Given the description of an element on the screen output the (x, y) to click on. 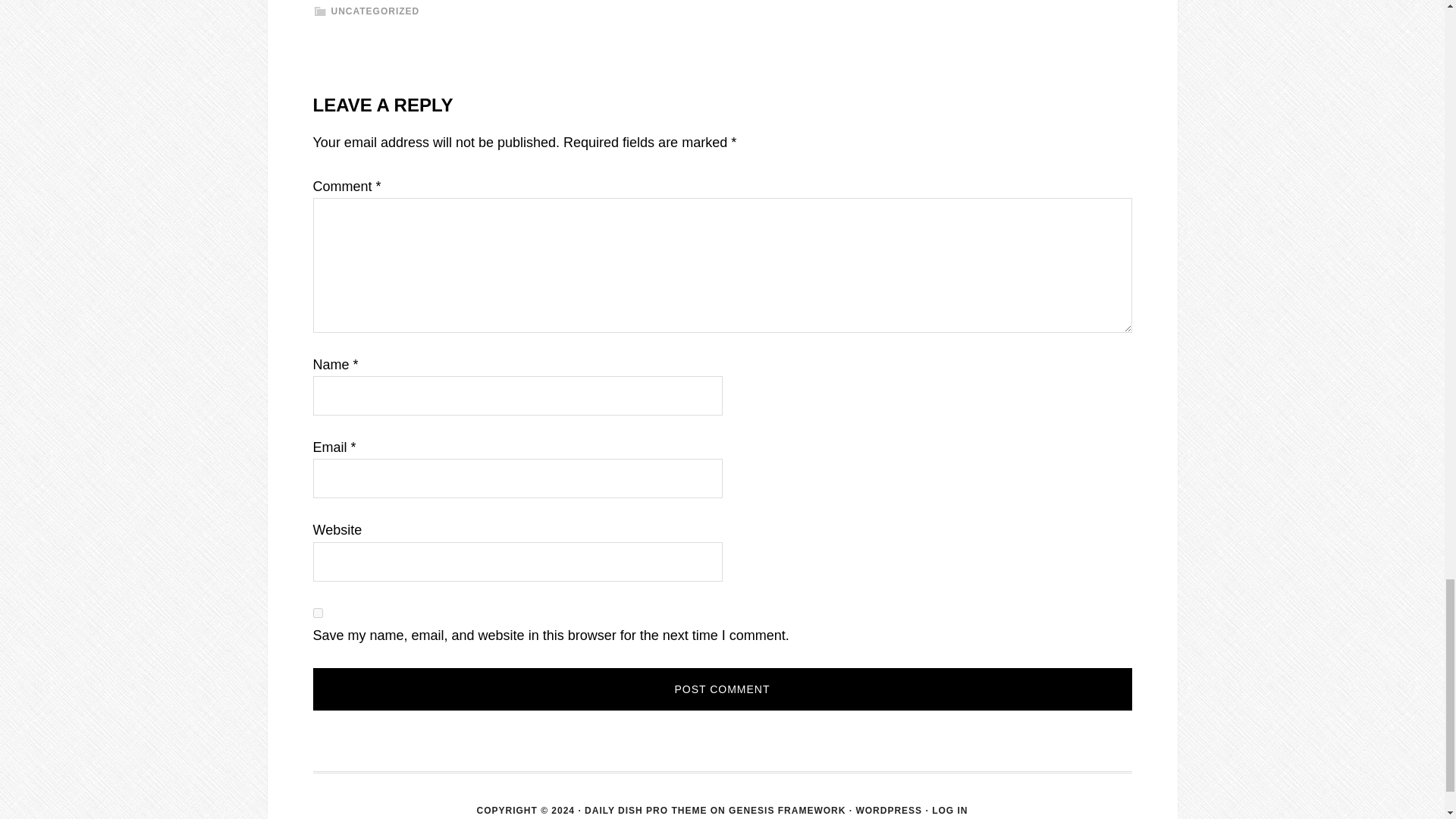
UNCATEGORIZED (374, 10)
LOG IN (949, 810)
DAILY DISH PRO THEME (645, 810)
Post Comment (722, 689)
WORDPRESS (888, 810)
yes (317, 613)
Post Comment (722, 689)
GENESIS FRAMEWORK (787, 810)
